Given the description of an element on the screen output the (x, y) to click on. 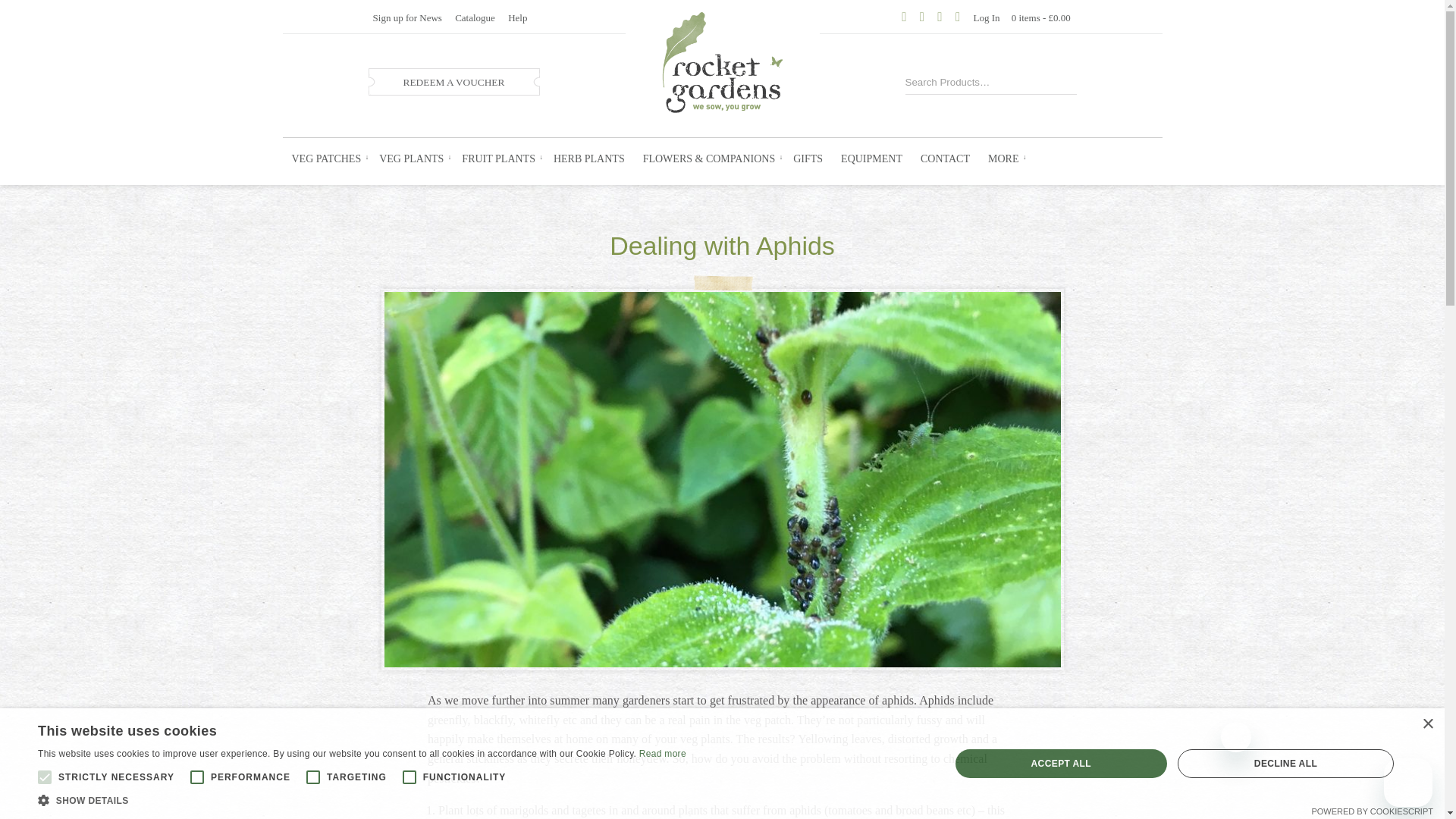
Button to launch messaging window (1408, 782)
Sign up for News (406, 17)
VEG PATCHES (325, 158)
Close message (1235, 736)
REDEEM A VOUCHER (454, 81)
VEG PLANTS (410, 158)
Catalogue (473, 17)
Log In (987, 17)
Search for: (974, 80)
Help (516, 17)
Consent Management Platform (1371, 810)
View your shopping cart (1040, 17)
